Given the description of an element on the screen output the (x, y) to click on. 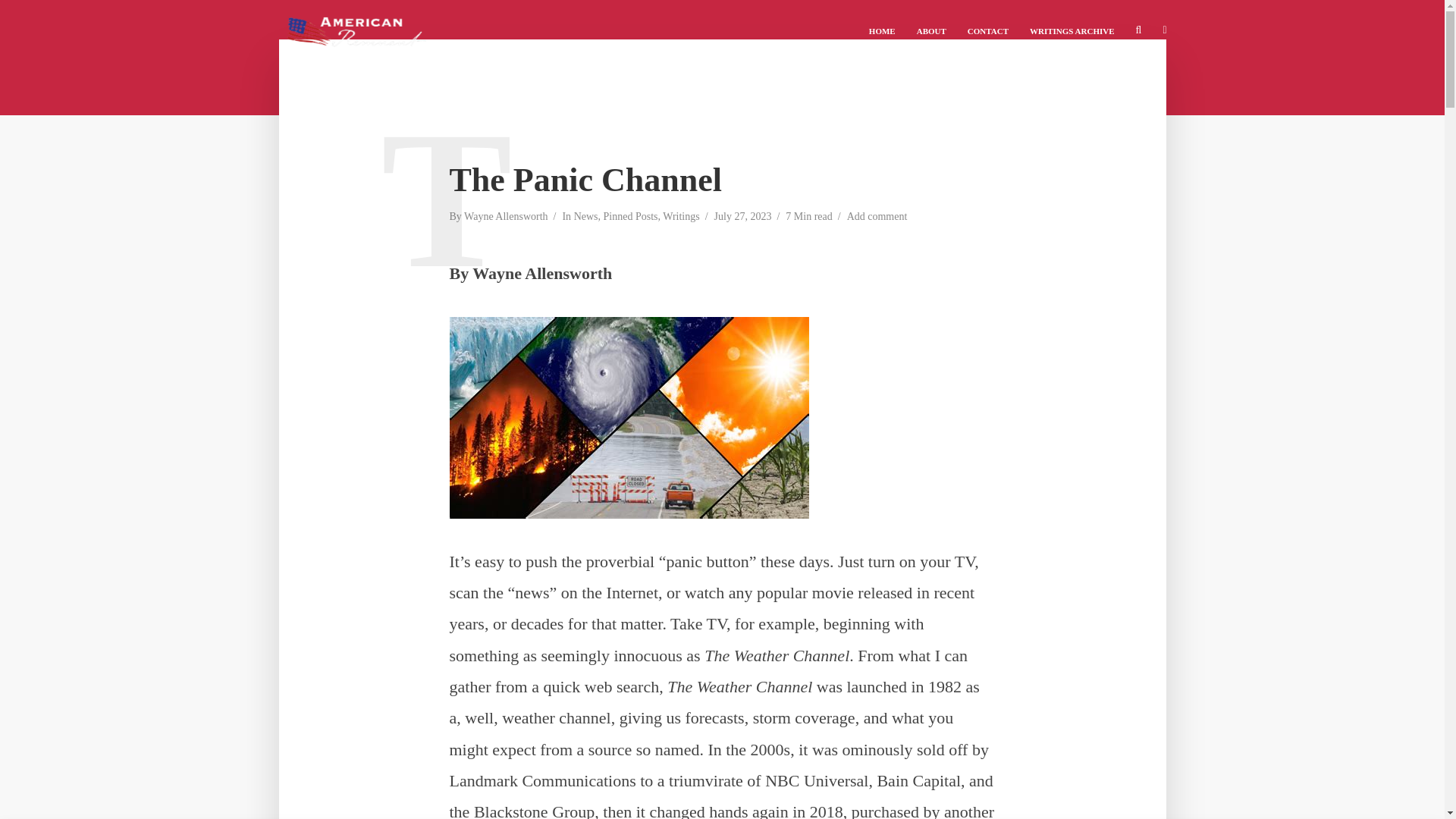
ABOUT (930, 30)
News (585, 217)
HOME (882, 30)
Wayne Allensworth (505, 217)
Add comment (877, 217)
WRITINGS ARCHIVE (1072, 30)
CONTACT (987, 30)
Pinned Posts (631, 217)
Writings (680, 217)
